Given the description of an element on the screen output the (x, y) to click on. 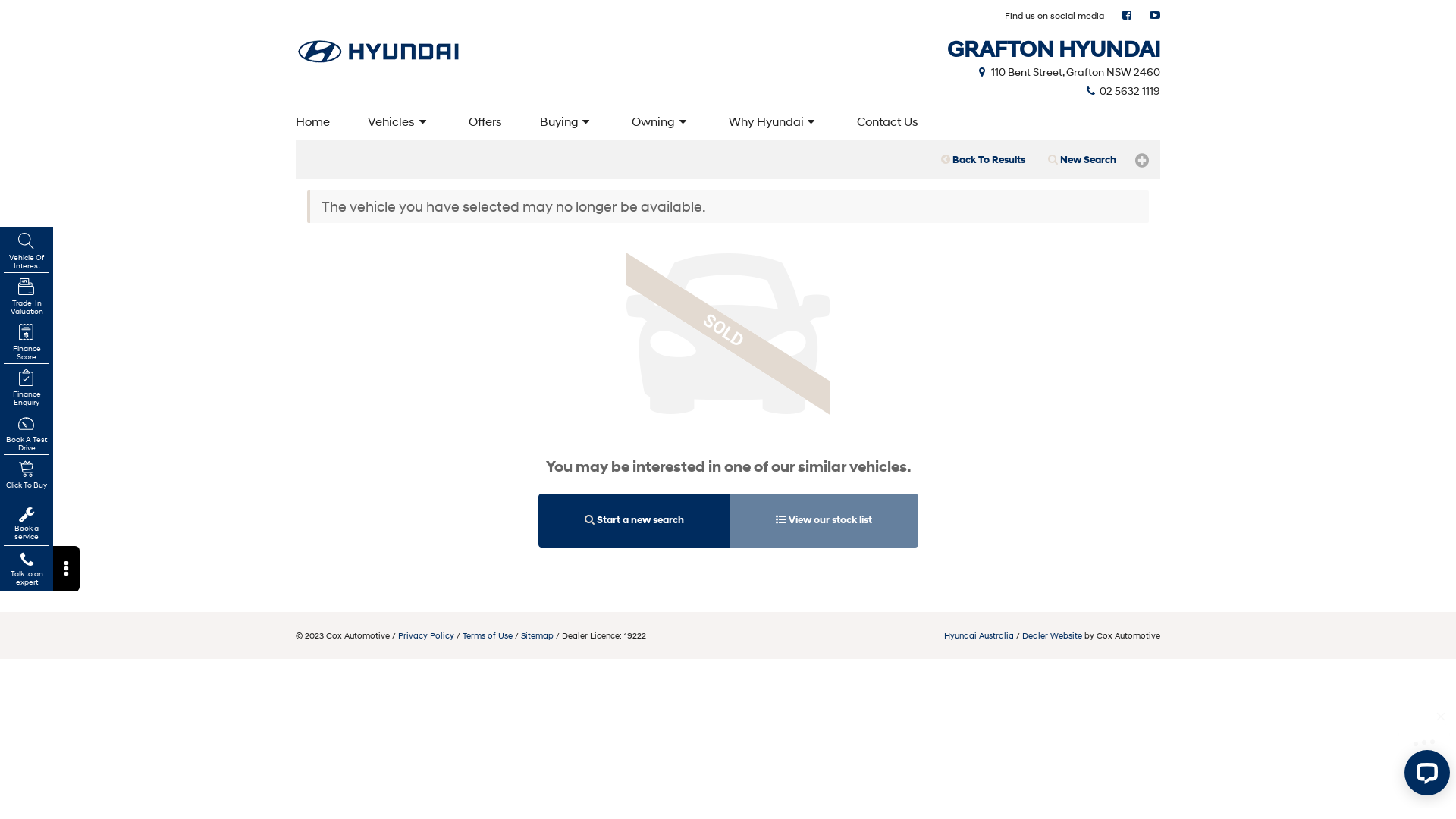
Privacy Policy Element type: text (426, 635)
Back To Results Element type: text (982, 159)
Hyundai Australia Element type: text (978, 635)
Buying Element type: text (566, 121)
Sitemap Element type: text (536, 635)
Book a service Element type: text (26, 523)
Contact Us Element type: text (887, 121)
Start a new search Element type: text (634, 520)
View our stock list Element type: text (823, 520)
Trade-In Valuation Element type: text (26, 297)
Vehicle Of Interest Element type: text (26, 251)
Facebook Element type: hover (1126, 14)
Finance Score Element type: text (26, 342)
110 Bent Street, Grafton NSW 2460 Element type: text (1067, 71)
Owning Element type: text (660, 121)
Offers Element type: text (484, 121)
Home Element type: text (314, 121)
Why Hyundai Element type: text (773, 121)
Terms of Use Element type: text (487, 635)
Finance Enquiry Element type: text (26, 388)
Talk to an expert Element type: text (26, 568)
YouTube Element type: hover (1154, 14)
Dealer Website Element type: text (1052, 635)
New Search Element type: text (1081, 159)
Vehicles Element type: text (398, 121)
Click To Buy Element type: text (26, 479)
02 5632 1119 Element type: text (1121, 90)
Book A Test Drive Element type: text (26, 433)
